Given the description of an element on the screen output the (x, y) to click on. 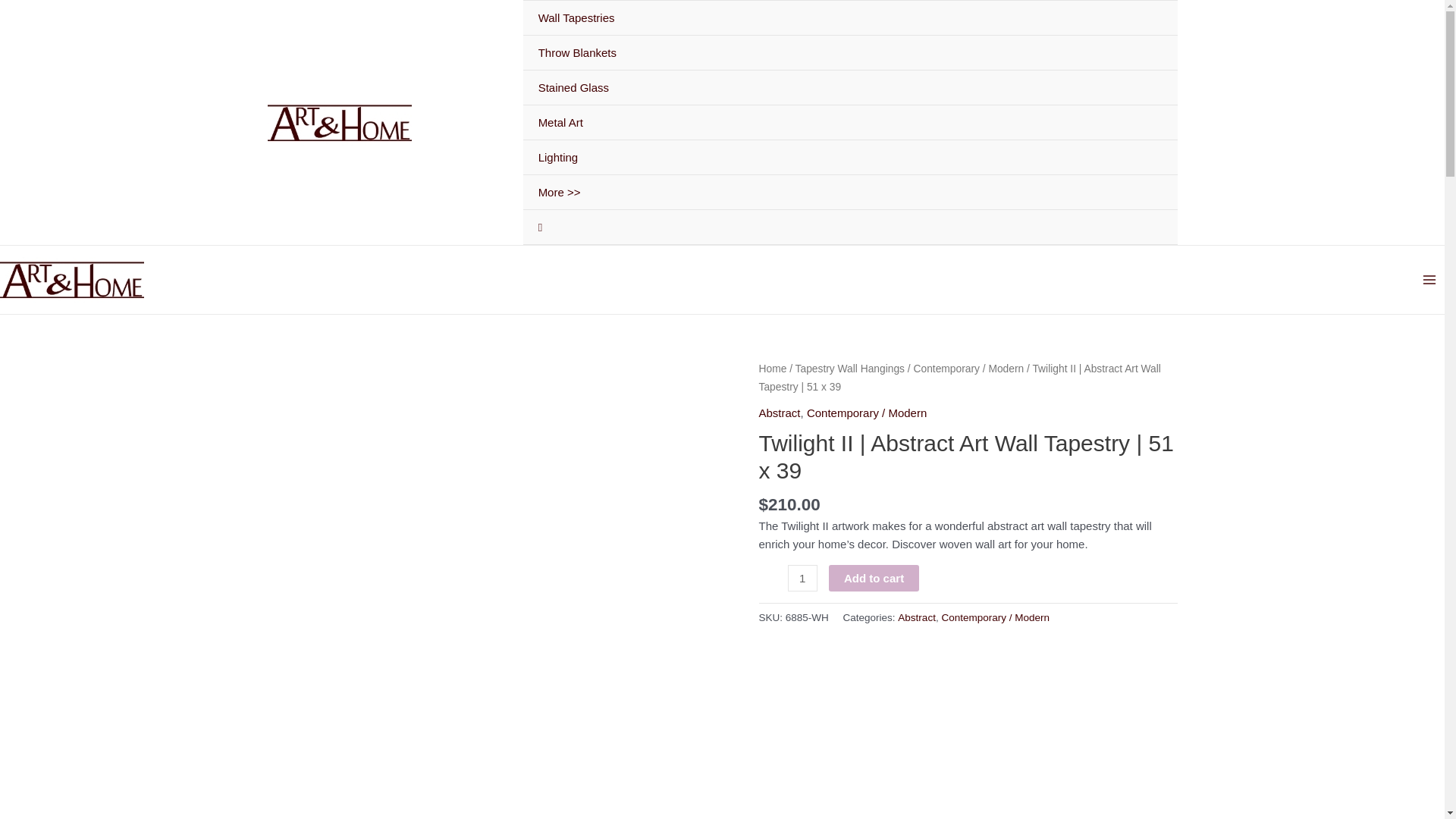
Stained Glass (849, 87)
Tapestry Wall Hangings (849, 368)
Metal Art (849, 122)
Home (772, 368)
Throw Blankets (849, 53)
1 (801, 578)
Abstract (917, 617)
Add to cart (873, 578)
Wall Tapestries (849, 18)
Abstract (778, 412)
